Given the description of an element on the screen output the (x, y) to click on. 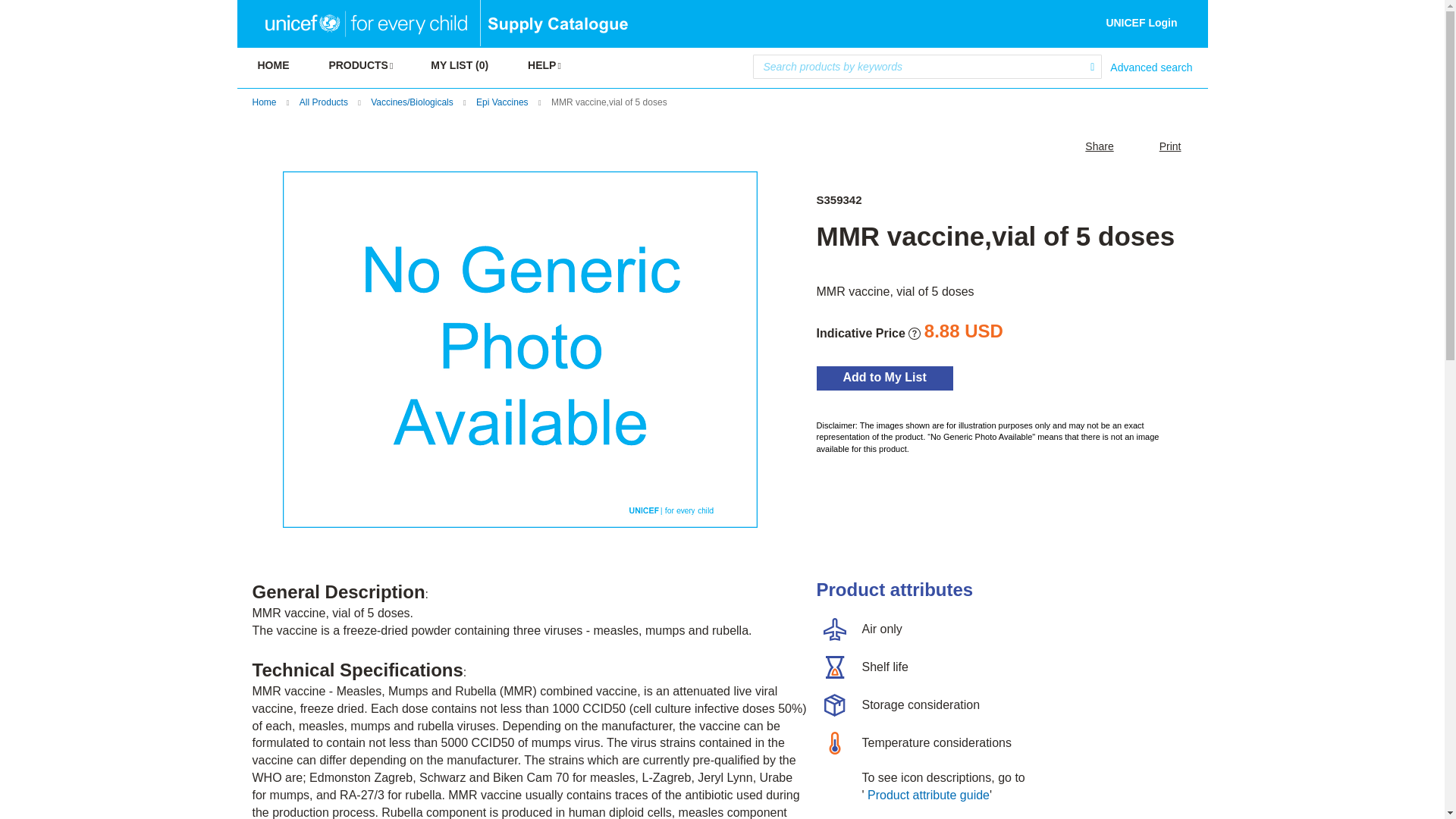
Home (263, 102)
Product attribute guide (928, 794)
Add to My List (907, 377)
Go to Home Page (263, 102)
Supply Catalouge (555, 31)
All Products (323, 102)
HELP (543, 67)
Advanced search (1150, 67)
Add to My List (907, 377)
All Products (323, 102)
Share (1087, 146)
PRODUCTS (360, 67)
Epi Vaccines (501, 102)
Epi Vaccines (501, 102)
HOME (272, 67)
